Given the description of an element on the screen output the (x, y) to click on. 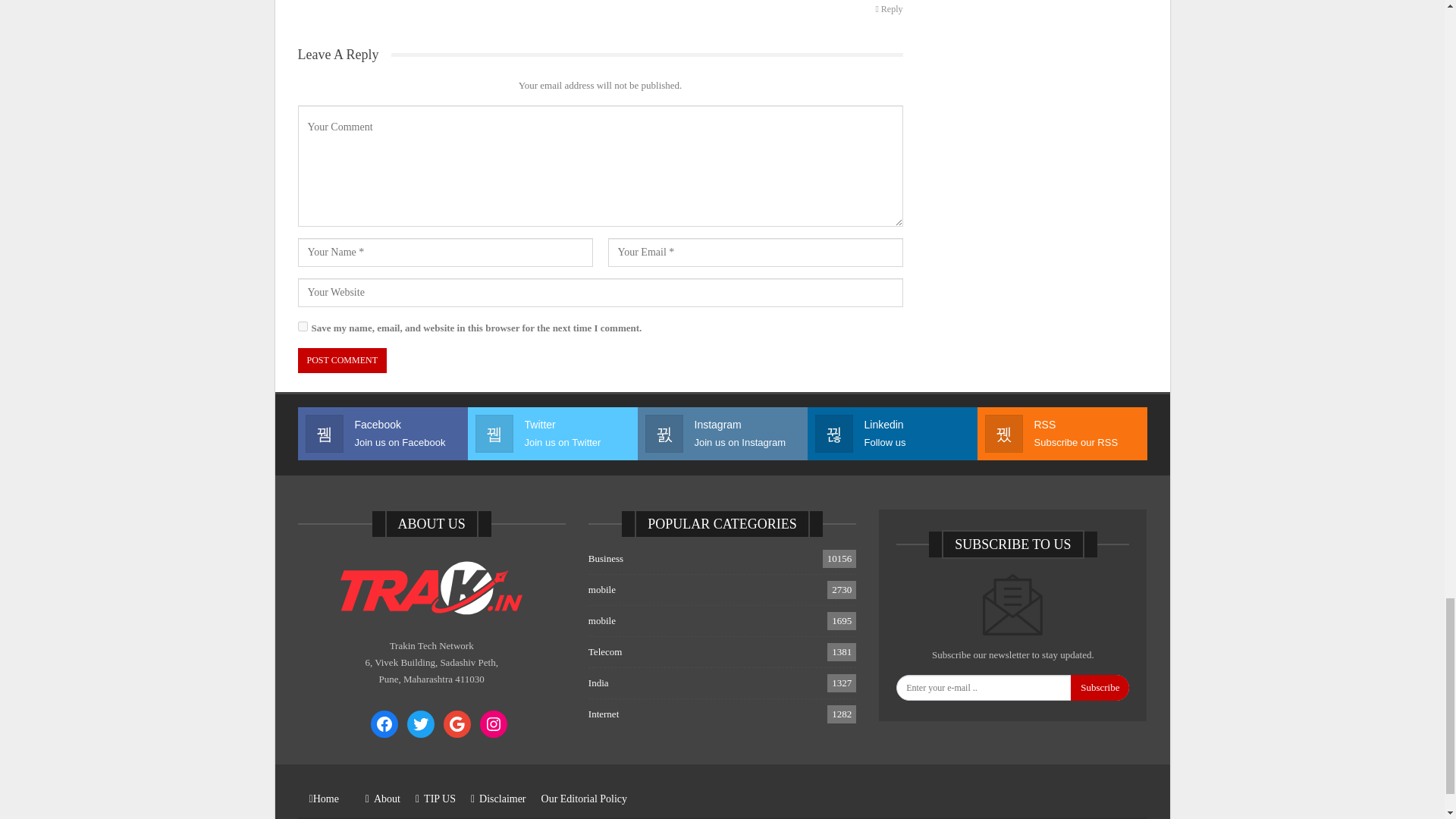
Post Comment (341, 360)
yes (302, 326)
